Given the description of an element on the screen output the (x, y) to click on. 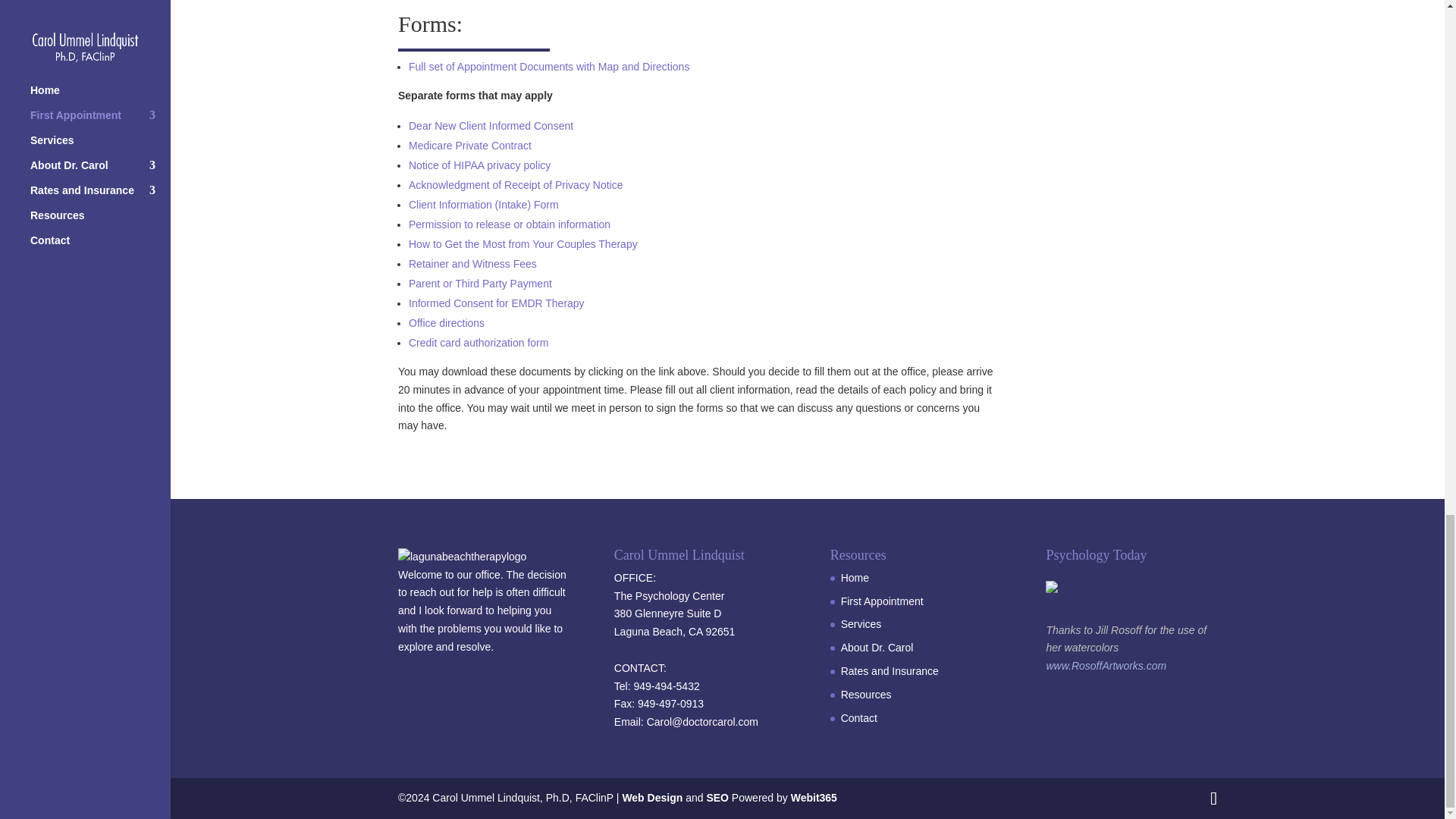
Acknowledgment of Receipt of Privacy Notice (516, 184)
Credit card authorization form (478, 342)
How to Get the Most from Your Couples Therapy (523, 244)
Notice of HIPAA privacy policy (479, 164)
Permission to release or obtain information (509, 224)
Medicare Private Contract (470, 145)
Full set of Appointment Documents with Map and Directions (548, 66)
Retainer and Witness Fees (473, 263)
Parent or Third Party Payment (480, 283)
Dear New Client Informed Consent (491, 125)
